Given the description of an element on the screen output the (x, y) to click on. 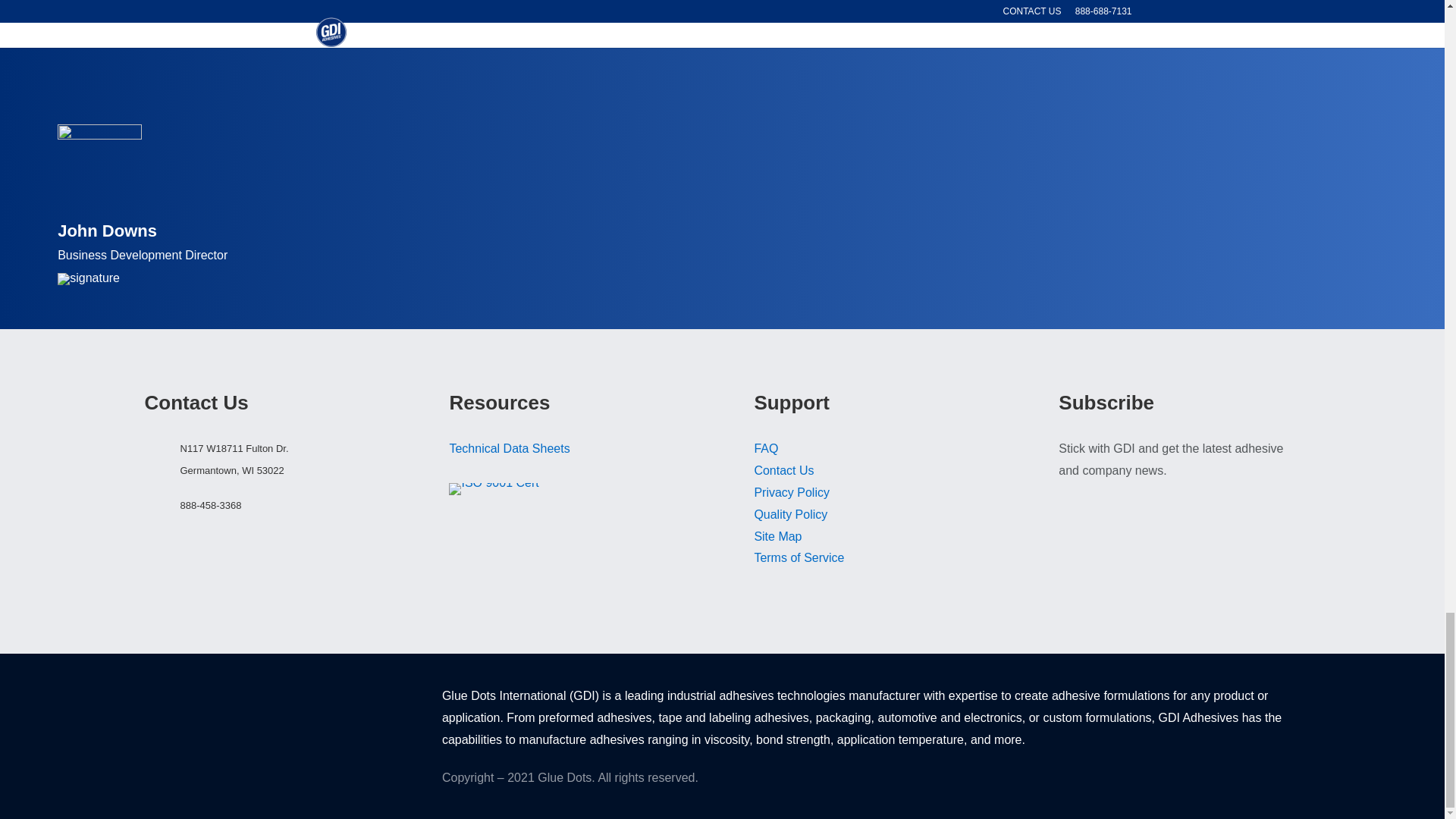
Contact Us (783, 470)
Technical Data Sheets (508, 448)
Privacy Policy (791, 492)
Quality Policy (790, 513)
Terms of Service (799, 557)
Site Map (778, 535)
FAQ (765, 448)
